Given the description of an element on the screen output the (x, y) to click on. 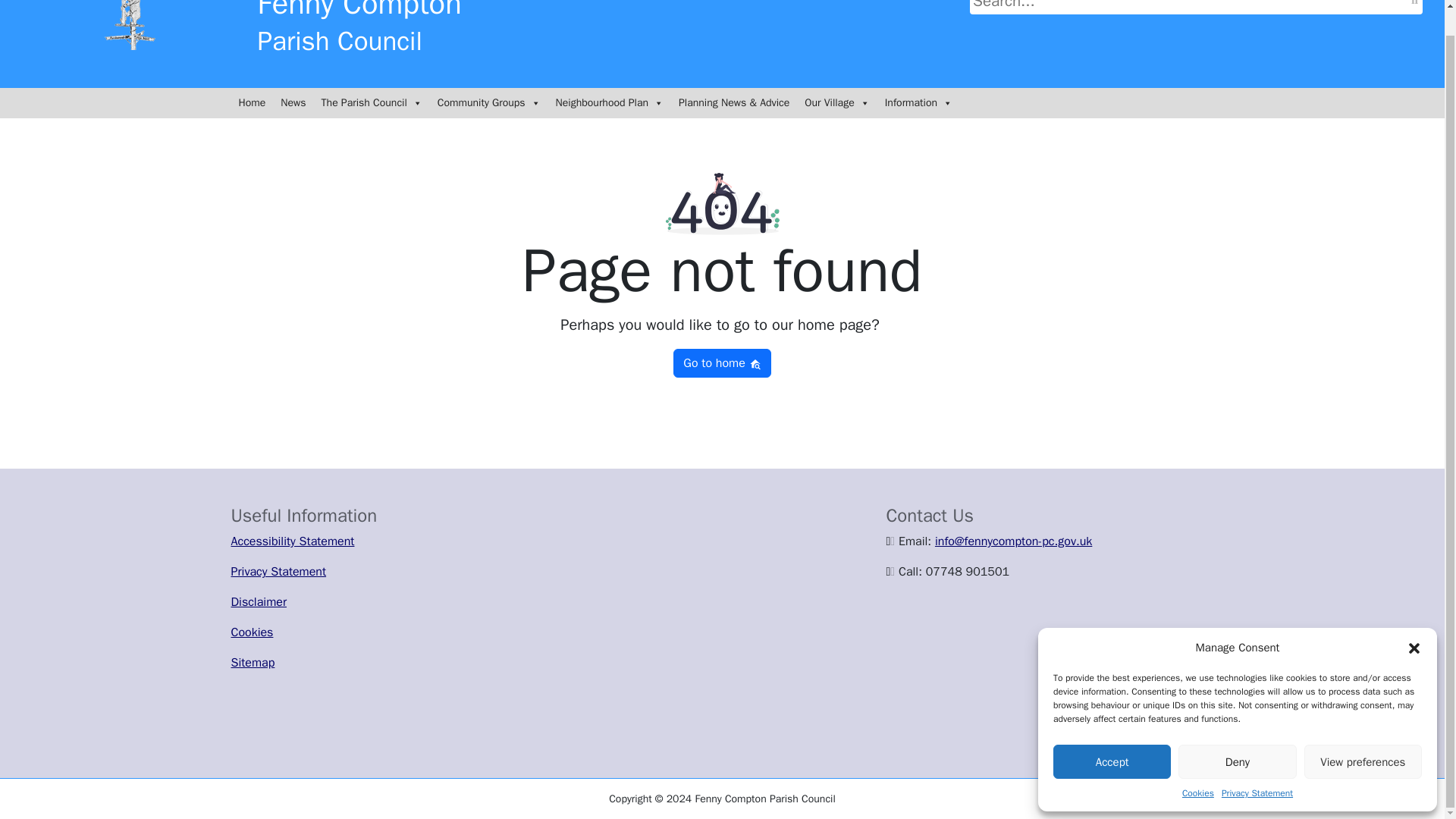
Search (1414, 4)
Accept (1111, 735)
View preferences (1363, 735)
Home (251, 102)
News (293, 102)
The Parish Council (371, 102)
Cookies (1198, 766)
Privacy Statement (1256, 766)
Search (1414, 4)
Deny (1236, 735)
